Given the description of an element on the screen output the (x, y) to click on. 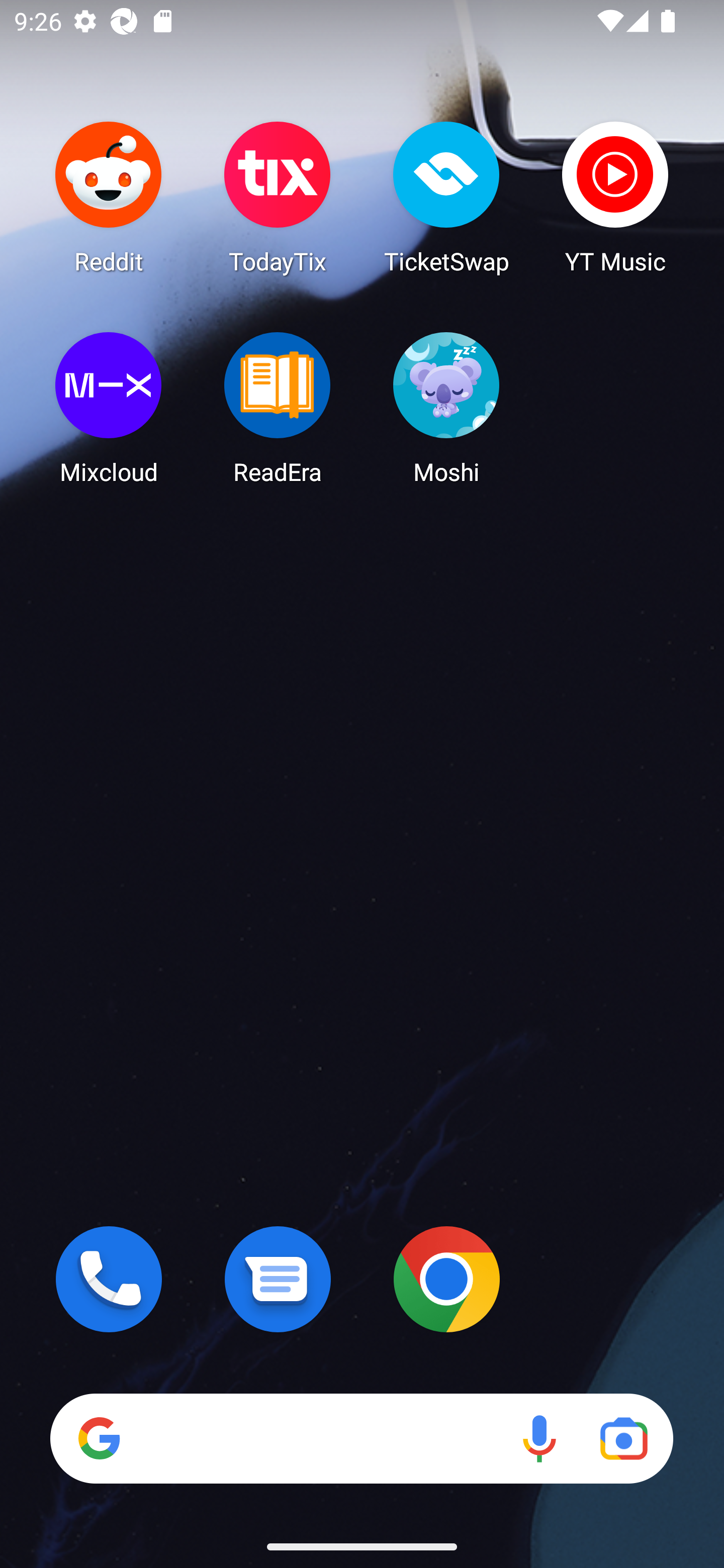
Reddit (108, 196)
TodayTix (277, 196)
TicketSwap (445, 196)
YT Music (615, 196)
Mixcloud (108, 407)
ReadEra (277, 407)
Moshi (445, 407)
Phone (108, 1279)
Messages (277, 1279)
Chrome (446, 1279)
Voice search (539, 1438)
Google Lens (623, 1438)
